Given the description of an element on the screen output the (x, y) to click on. 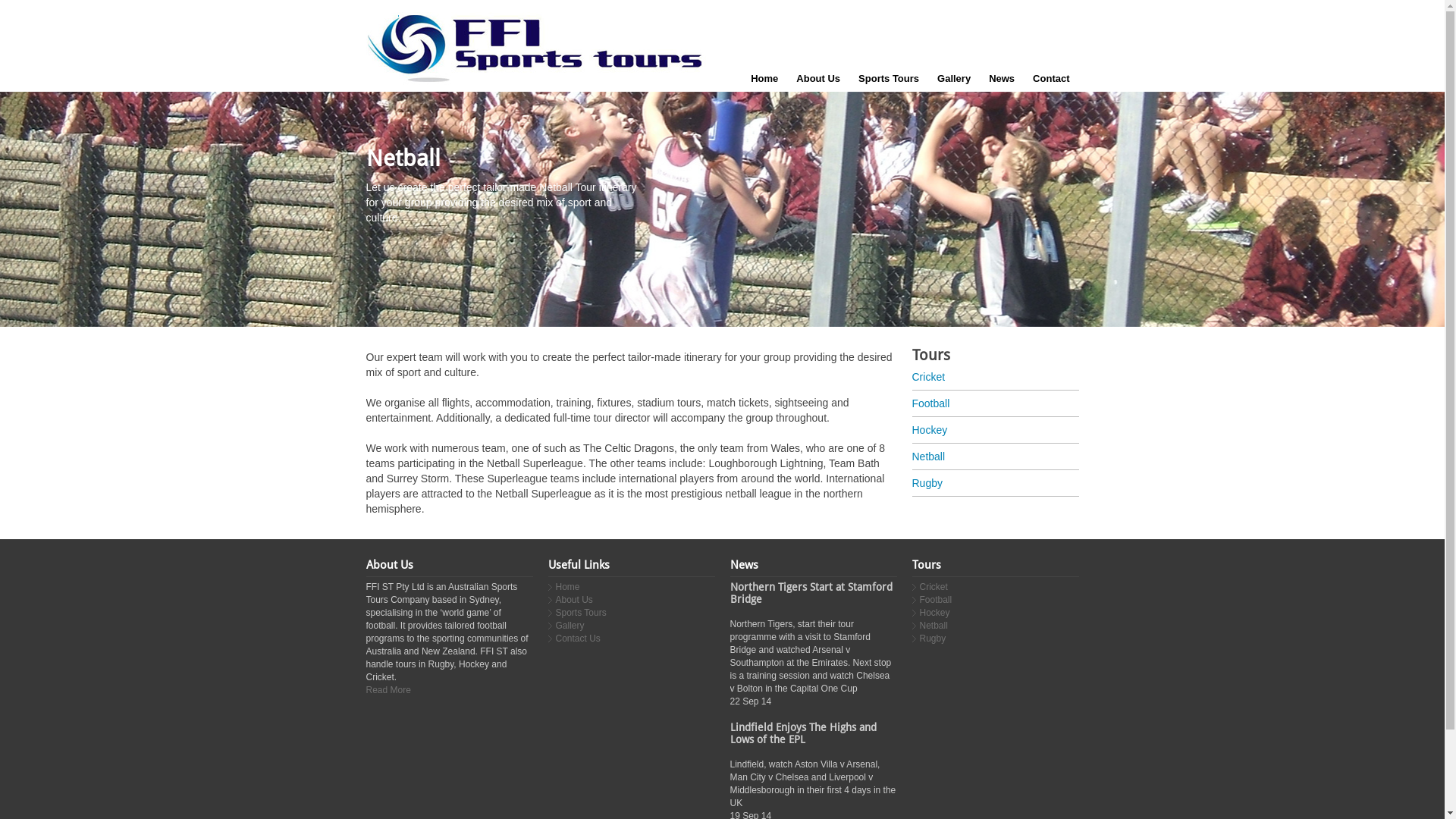
Rugby Element type: text (994, 482)
Football Element type: text (935, 599)
Read More Element type: text (387, 689)
About Us Element type: text (818, 78)
Football Element type: text (994, 403)
Contact Us Element type: text (577, 638)
Netball Element type: text (994, 456)
Sports Tours Element type: text (888, 78)
About Us Element type: text (573, 599)
News Element type: text (1001, 78)
Hockey Element type: text (934, 612)
Gallery Element type: text (569, 625)
Cricket Element type: text (994, 376)
Netball Element type: text (933, 625)
Home Element type: text (764, 78)
Home Element type: text (567, 586)
Hockey Element type: text (994, 429)
Gallery Element type: text (953, 78)
Contact Element type: text (1050, 78)
Rugby Element type: text (932, 638)
Cricket Element type: text (933, 586)
Sports Tours Element type: text (580, 612)
